Given the description of an element on the screen output the (x, y) to click on. 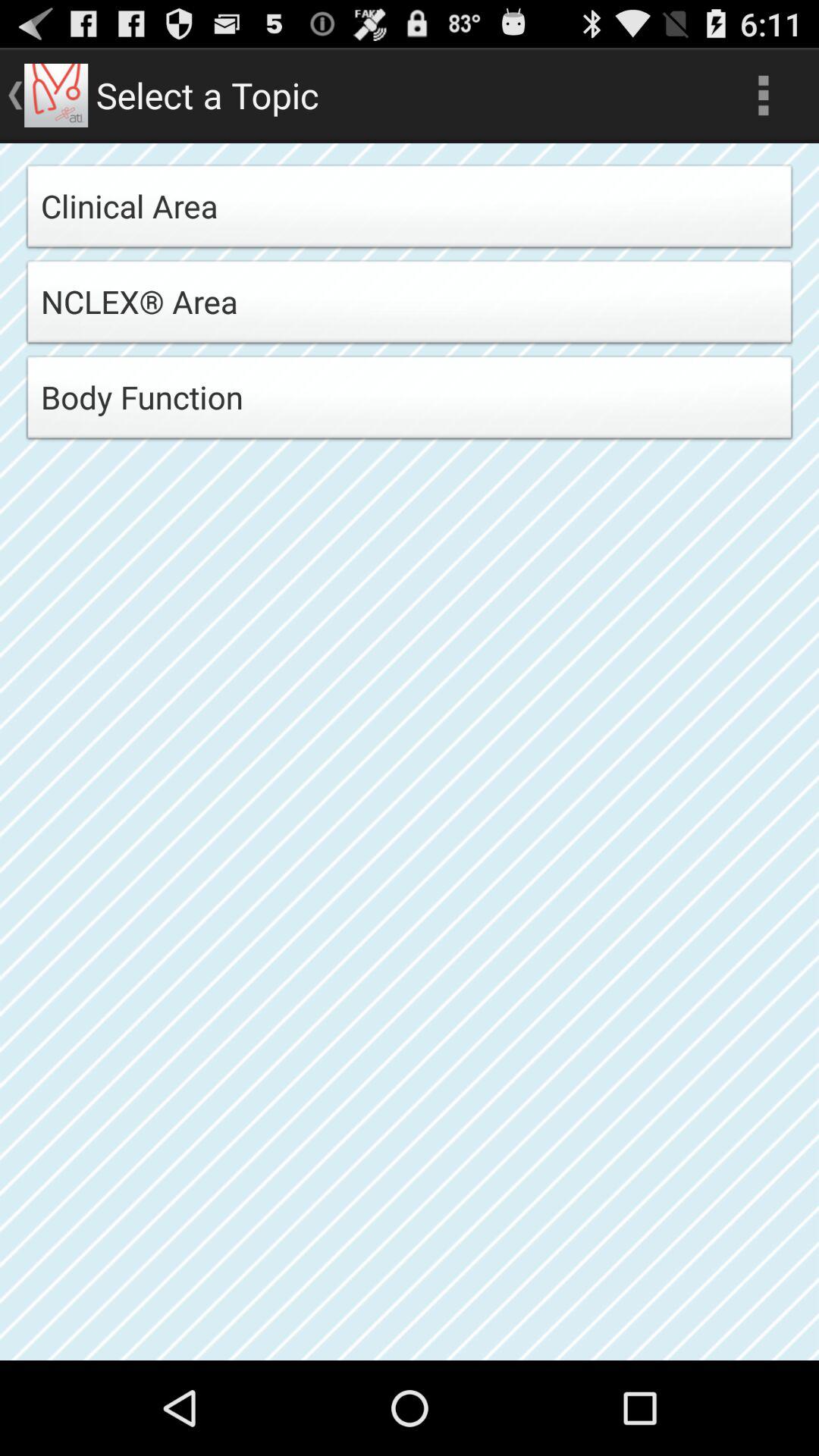
choose the icon at the top right corner (763, 95)
